Given the description of an element on the screen output the (x, y) to click on. 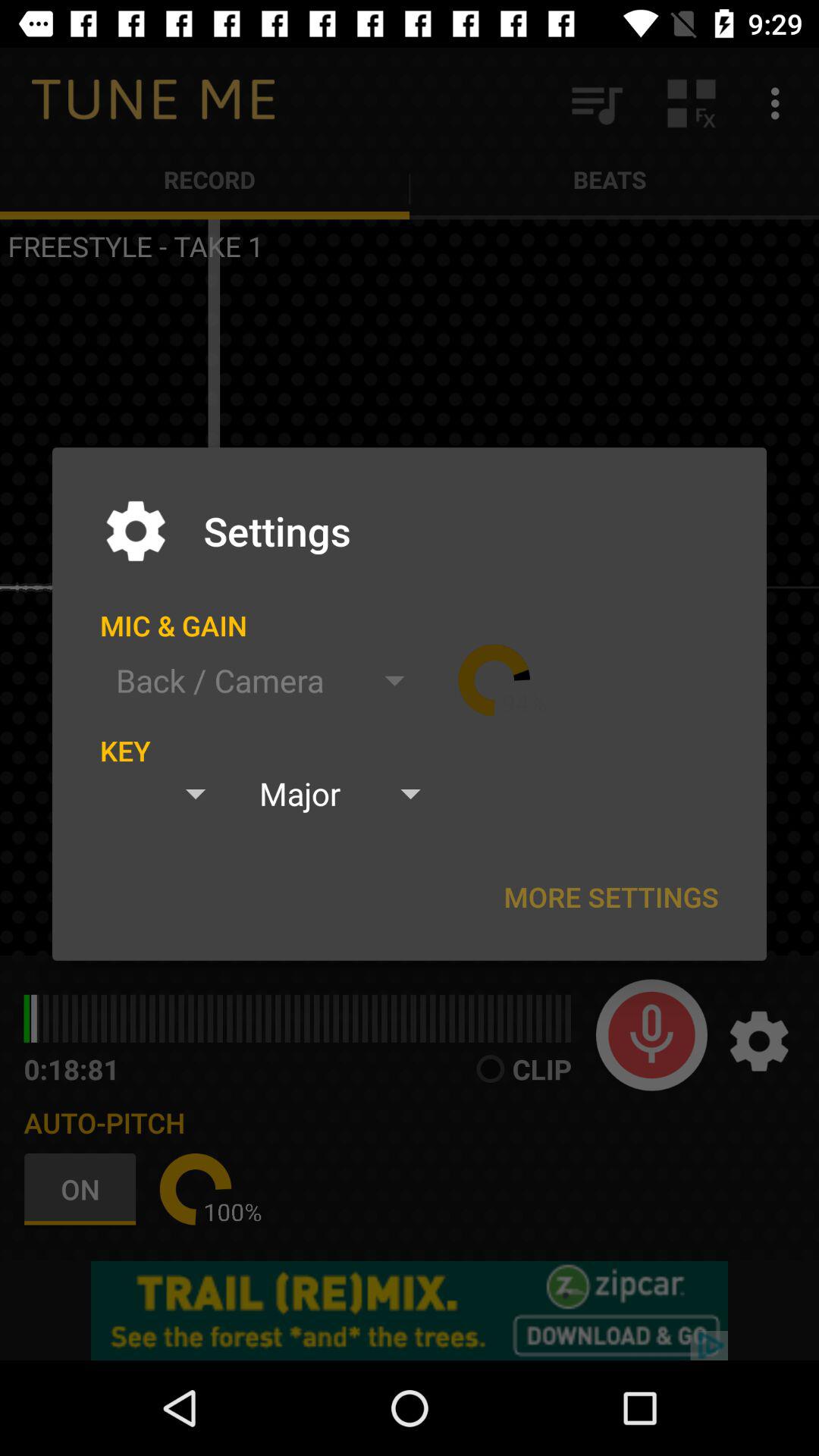
turn off item below auto-pitch (83, 1189)
